Given the description of an element on the screen output the (x, y) to click on. 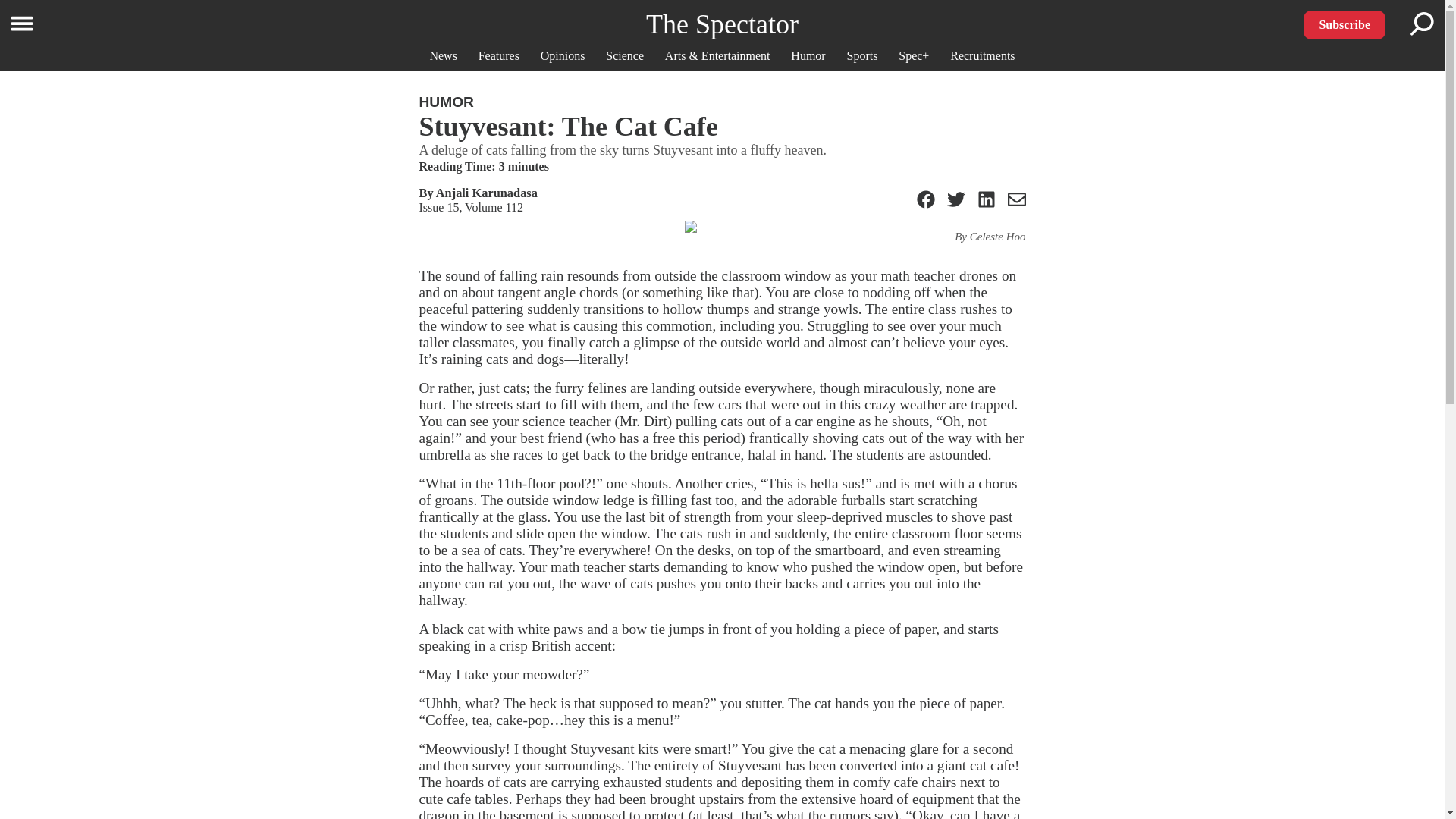
Features (499, 55)
Opinions (562, 55)
Science (624, 55)
News (443, 55)
The Spectator (721, 24)
Recruitments (982, 55)
Subscribe (1344, 24)
Humor (807, 55)
Sports (862, 55)
